Given the description of an element on the screen output the (x, y) to click on. 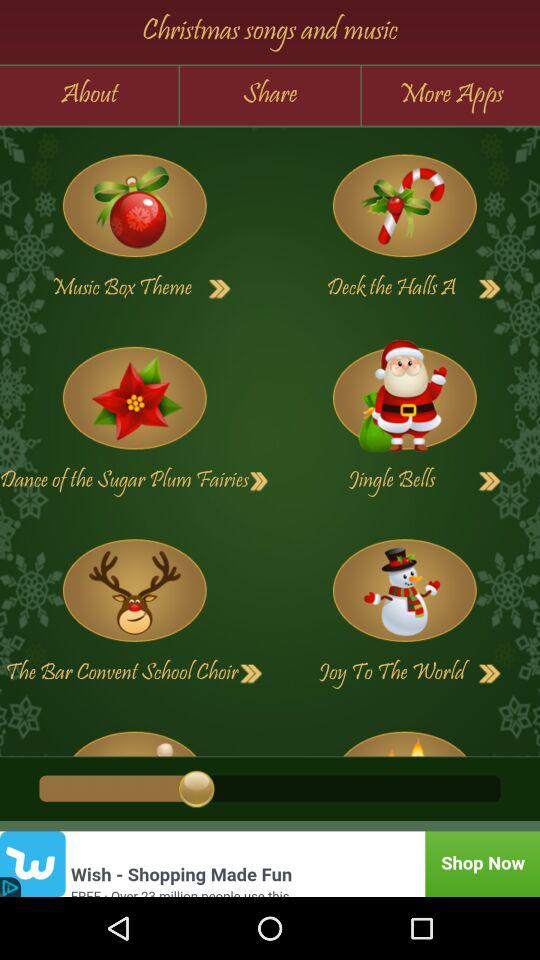
go to song (134, 205)
